Given the description of an element on the screen output the (x, y) to click on. 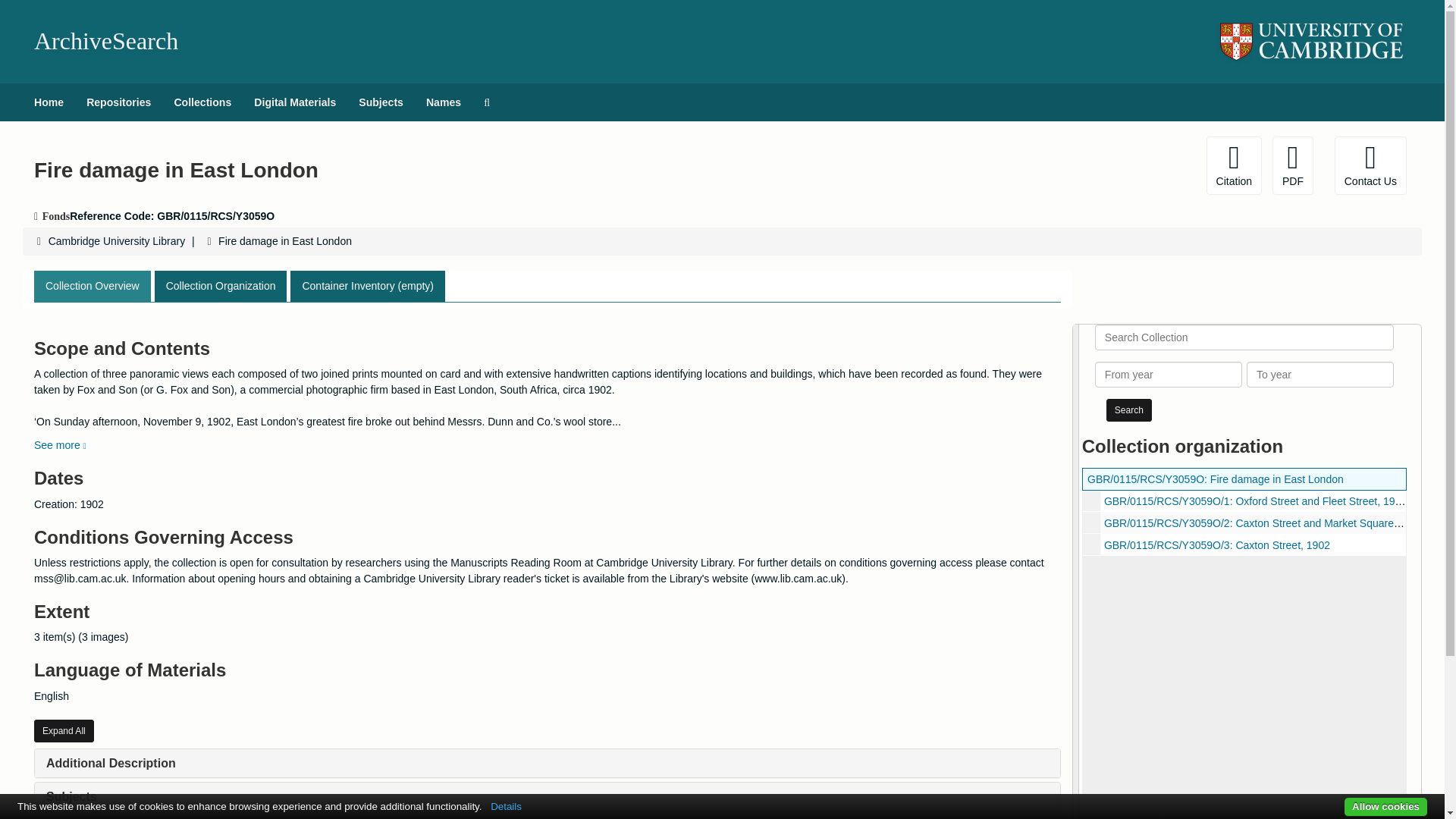
ArchiveSearch (105, 40)
Home (49, 102)
Collections (202, 102)
Additional Description (111, 762)
Names (442, 102)
Expand All (63, 730)
Repositories (118, 102)
Caxton Street (1244, 544)
Search (1128, 409)
Cambridge University Library (117, 241)
